Given the description of an element on the screen output the (x, y) to click on. 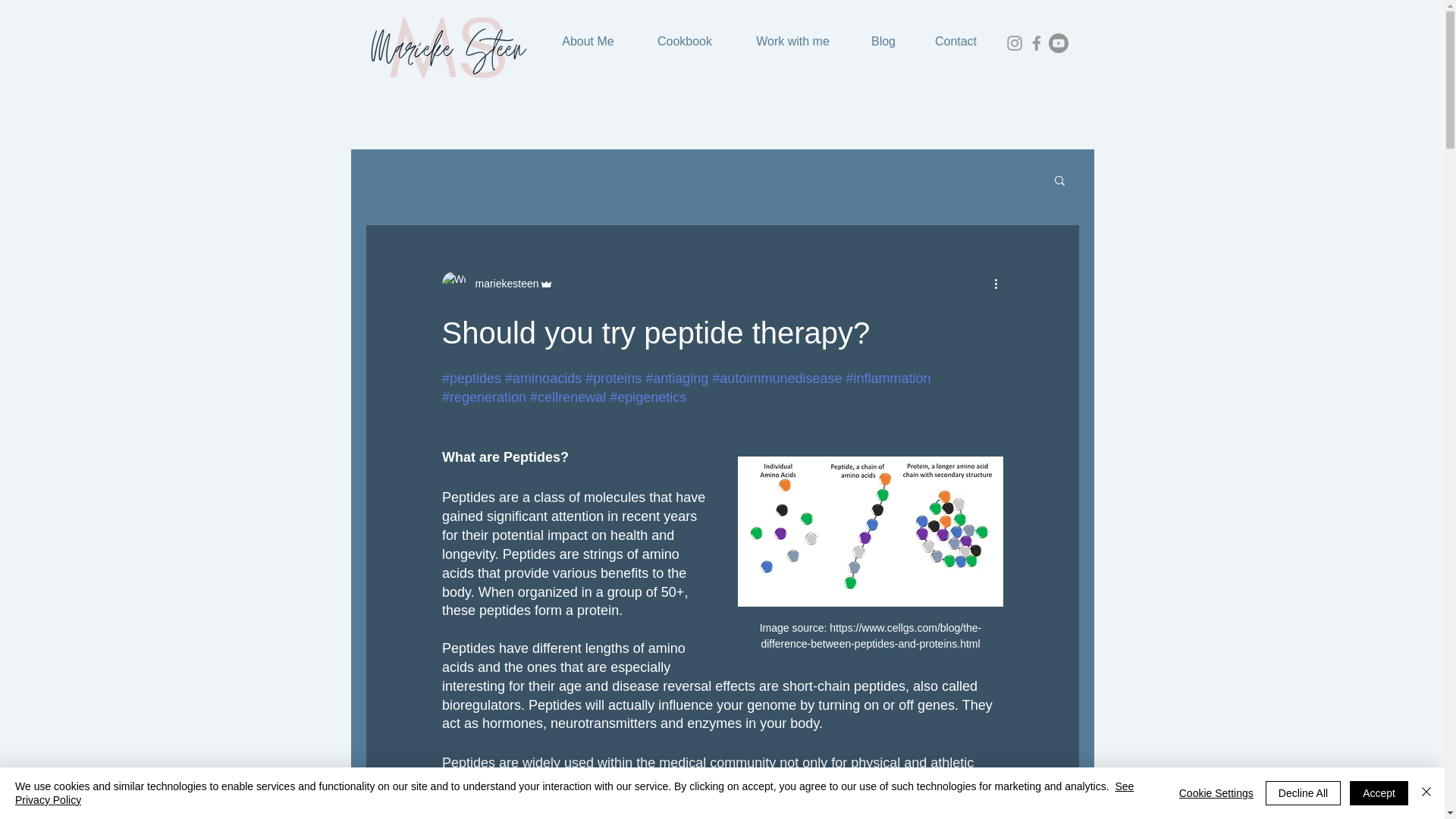
Work with me (792, 41)
mariekesteen (497, 283)
About Me (587, 41)
Cookbook (683, 41)
mariekesteen (501, 283)
Contact (954, 41)
Blog (883, 41)
